Given the description of an element on the screen output the (x, y) to click on. 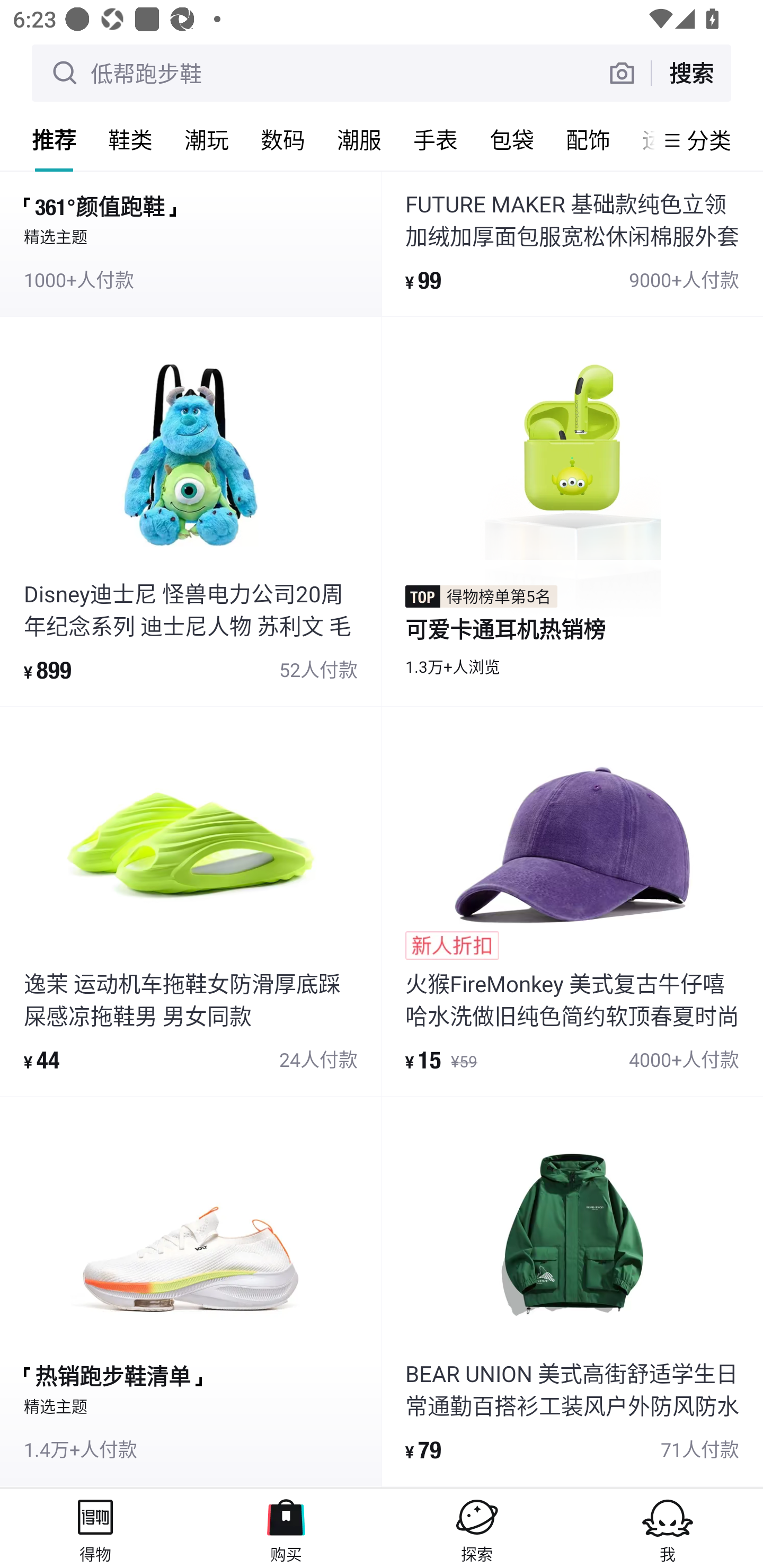
搜索 (690, 72)
推荐 (54, 139)
鞋类 (130, 139)
潮玩 (206, 139)
数码 (282, 139)
潮服 (359, 139)
手表 (435, 139)
包袋 (511, 139)
配饰 (588, 139)
分类 (708, 139)
361°颜值跑鞋 精选主题 1000+人付款 (190, 243)
得物榜单第5名 可爱卡通耳机热销榜 1.3万+人浏览 (572, 510)
热销跑步鞋清单 精选主题 1.4万+人付款 (190, 1291)
得物 (95, 1528)
购买 (285, 1528)
探索 (476, 1528)
我 (667, 1528)
